Given the description of an element on the screen output the (x, y) to click on. 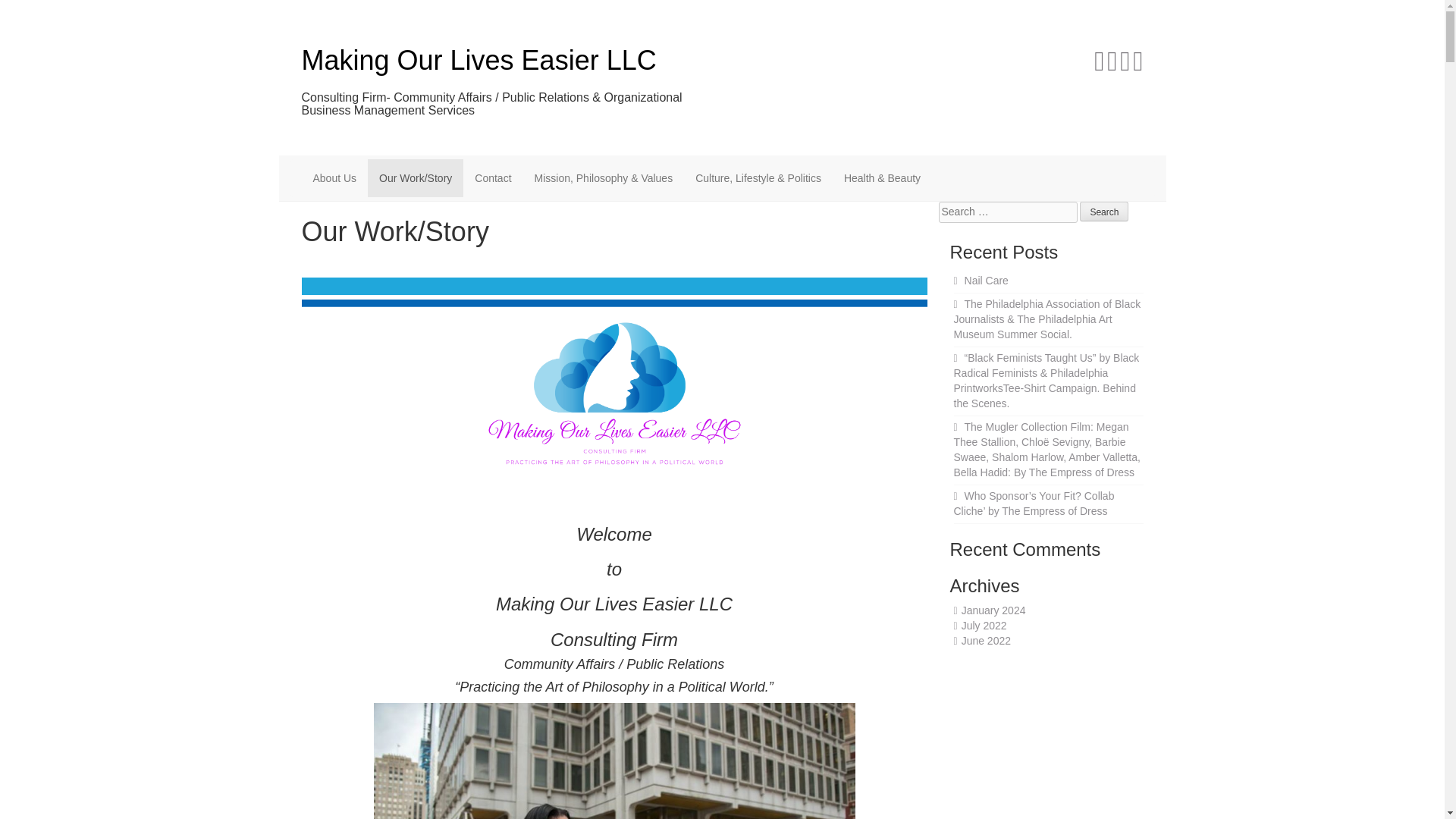
Search (1104, 211)
Making Our Lives Easier LLC (478, 60)
Contact (492, 177)
About Us (334, 177)
Search (1104, 211)
Making Our Lives Easier LLC (478, 60)
About Us (334, 177)
Contact (492, 177)
